Given the description of an element on the screen output the (x, y) to click on. 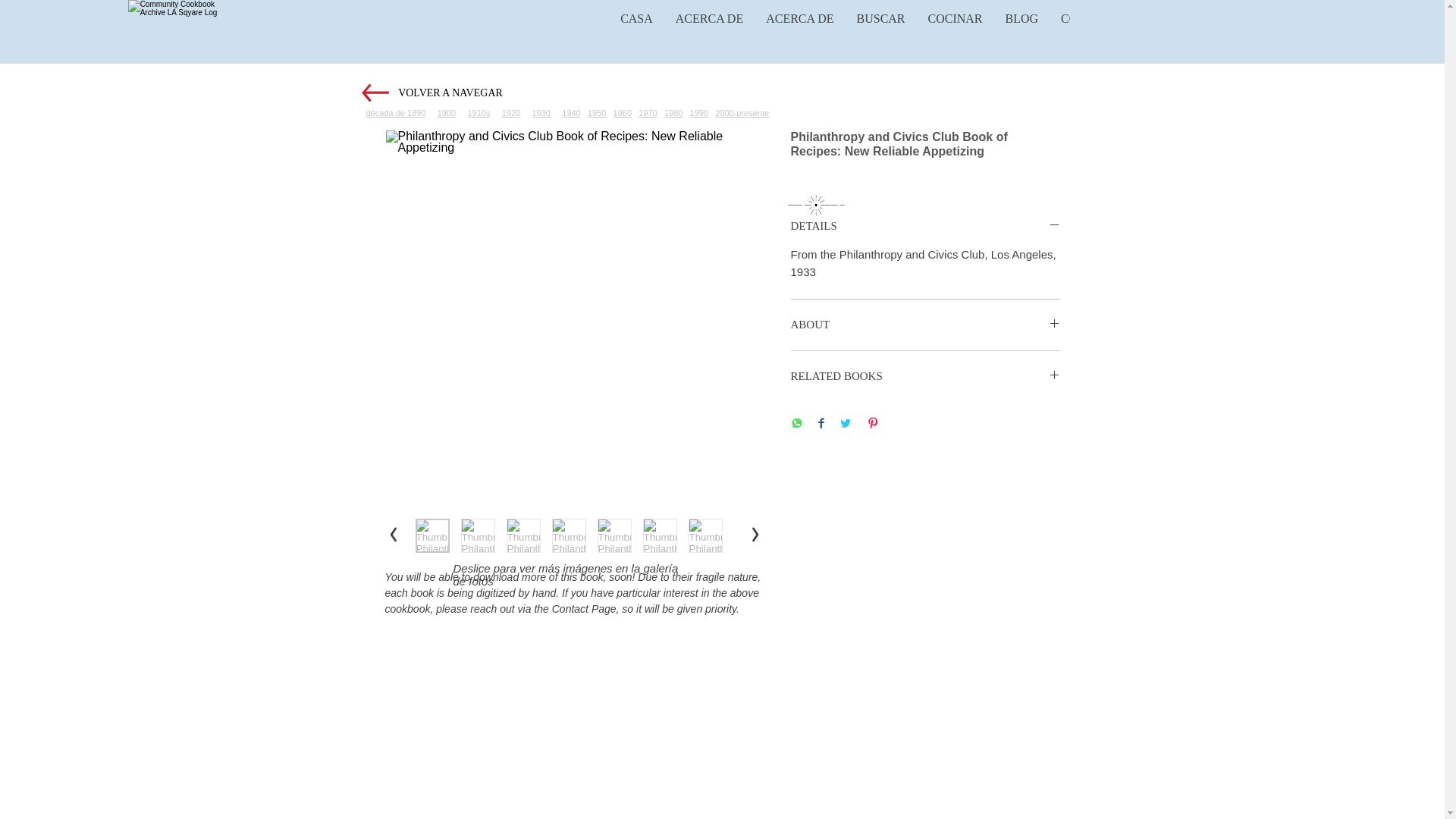
ACERCA DE (799, 29)
CASA (635, 29)
BLOG (1021, 29)
BUSCAR (879, 29)
ACERCA DE (708, 29)
COCINAR (955, 29)
VOLVER A NAVEGAR (449, 92)
CONTACTO (1093, 29)
